Given the description of an element on the screen output the (x, y) to click on. 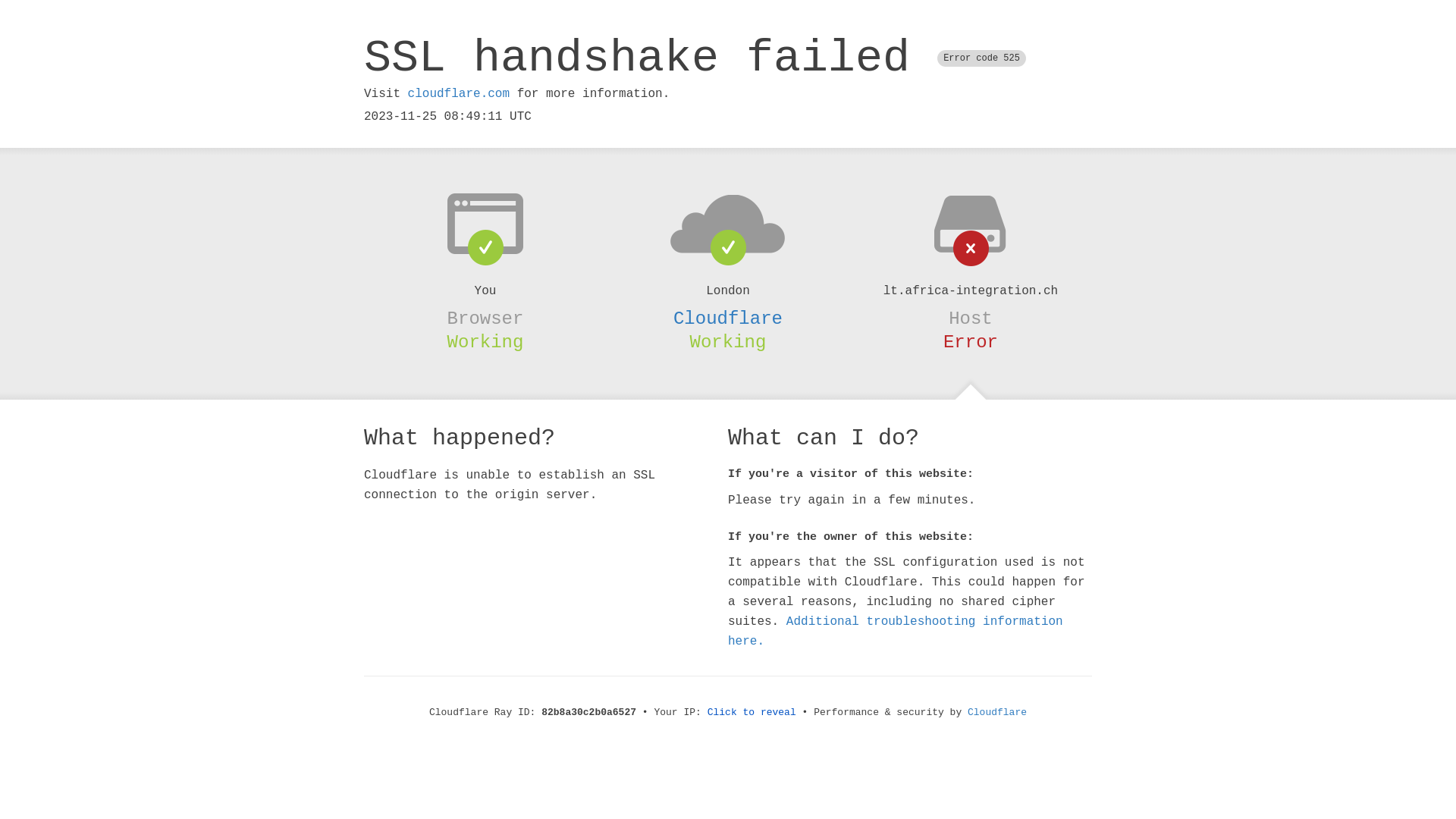
Cloudflare Element type: text (996, 712)
cloudflare.com Element type: text (458, 93)
Additional troubleshooting information here. Element type: text (895, 631)
Cloudflare Element type: text (727, 318)
Click to reveal Element type: text (751, 712)
